Given the description of an element on the screen output the (x, y) to click on. 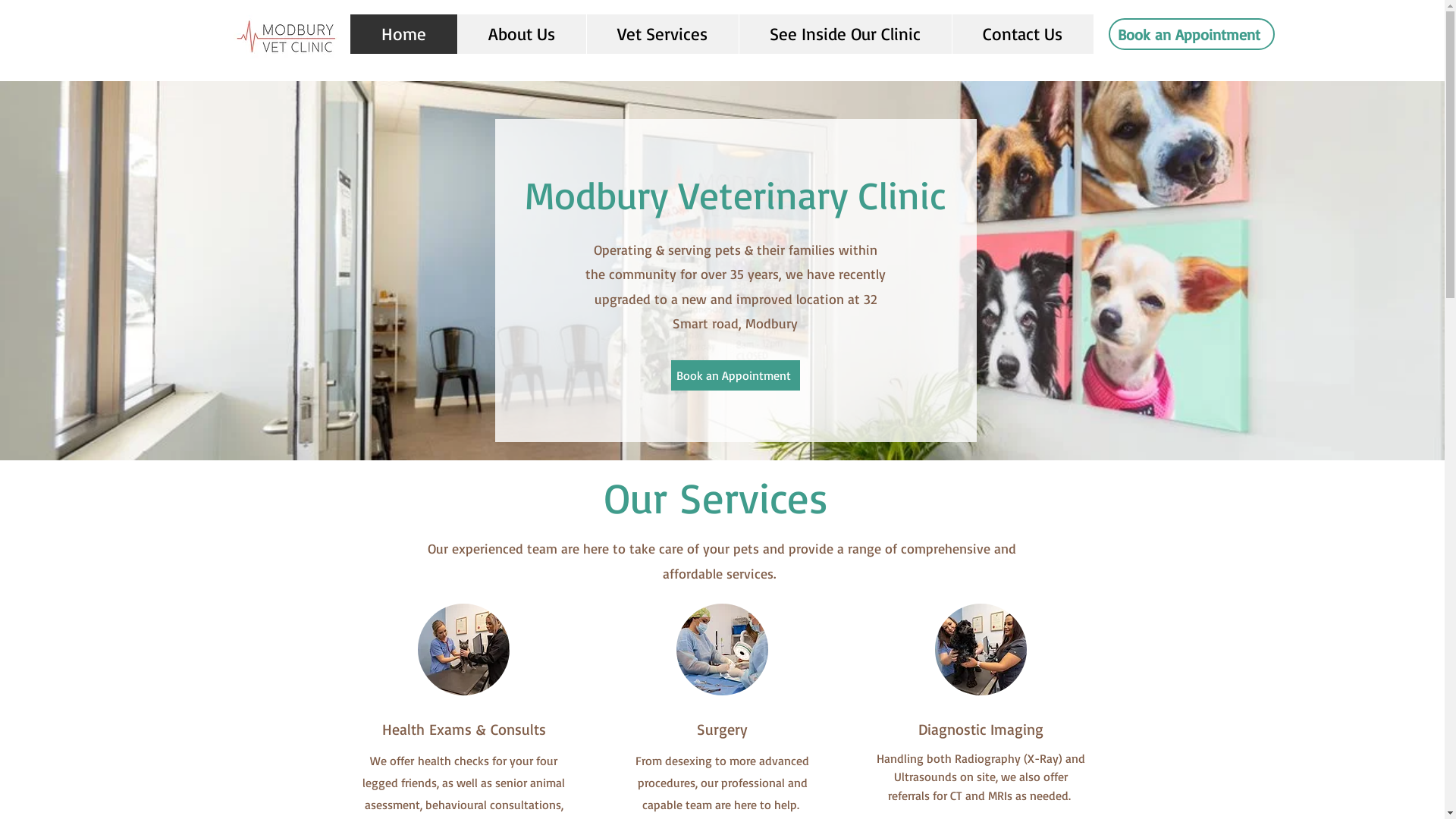
Book an Appointment Element type: text (734, 375)
Book an Appointment Element type: text (1191, 34)
Contact Us Element type: text (1021, 33)
Home Element type: text (403, 33)
Embedded Content Element type: hover (701, 9)
Vet Services Element type: text (661, 33)
About Us Element type: text (520, 33)
See Inside Our Clinic Element type: text (844, 33)
